Given the description of an element on the screen output the (x, y) to click on. 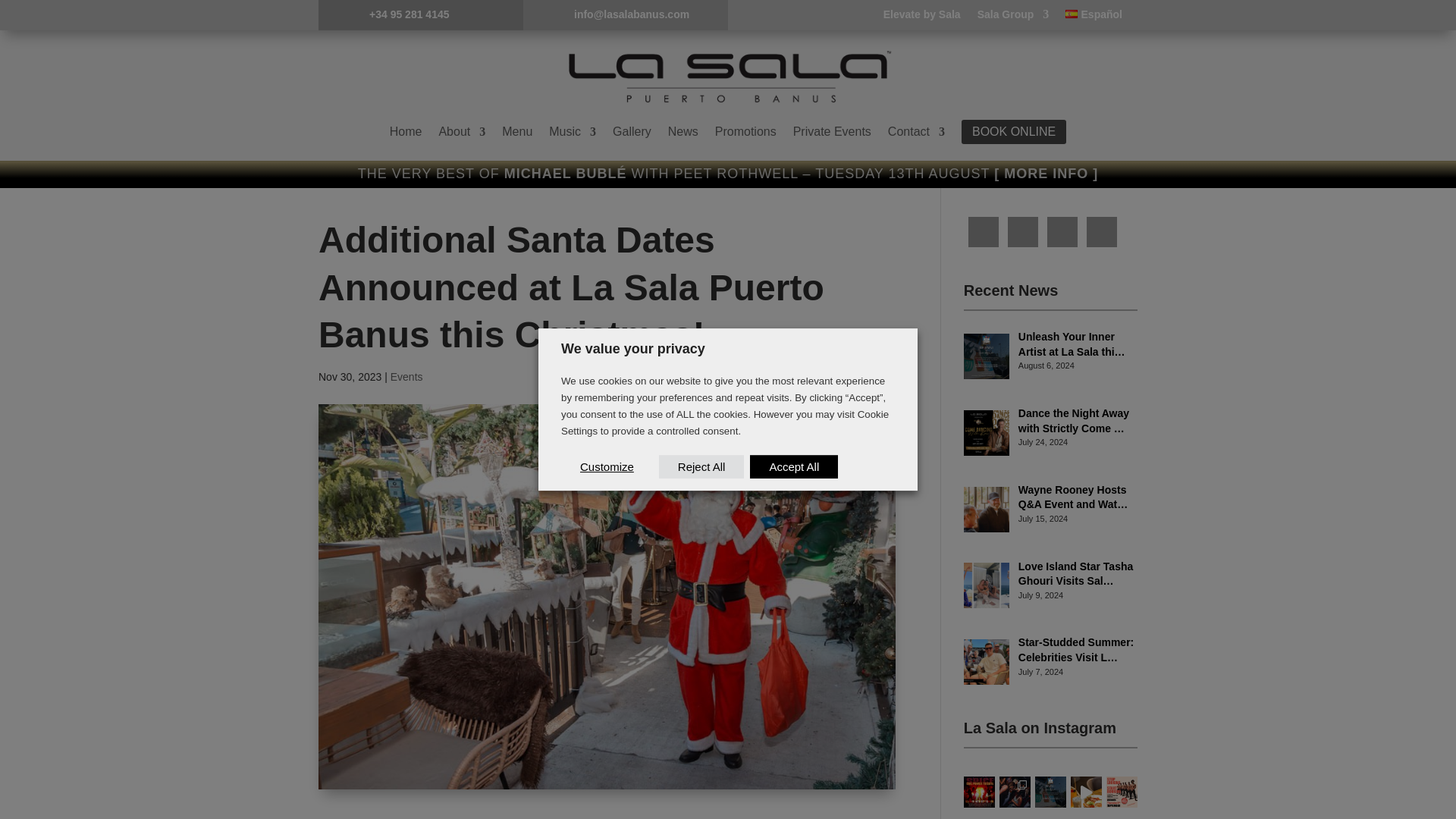
Promotions (745, 131)
Sala Group (1012, 17)
Marbella restaurant promotions and offers (745, 131)
BOOK ONLINE (1012, 131)
Get in touch with La Sala Puerto Banus (916, 131)
Elevate by Sala (921, 17)
Contact (916, 131)
Private Events (831, 131)
